Given the description of an element on the screen output the (x, y) to click on. 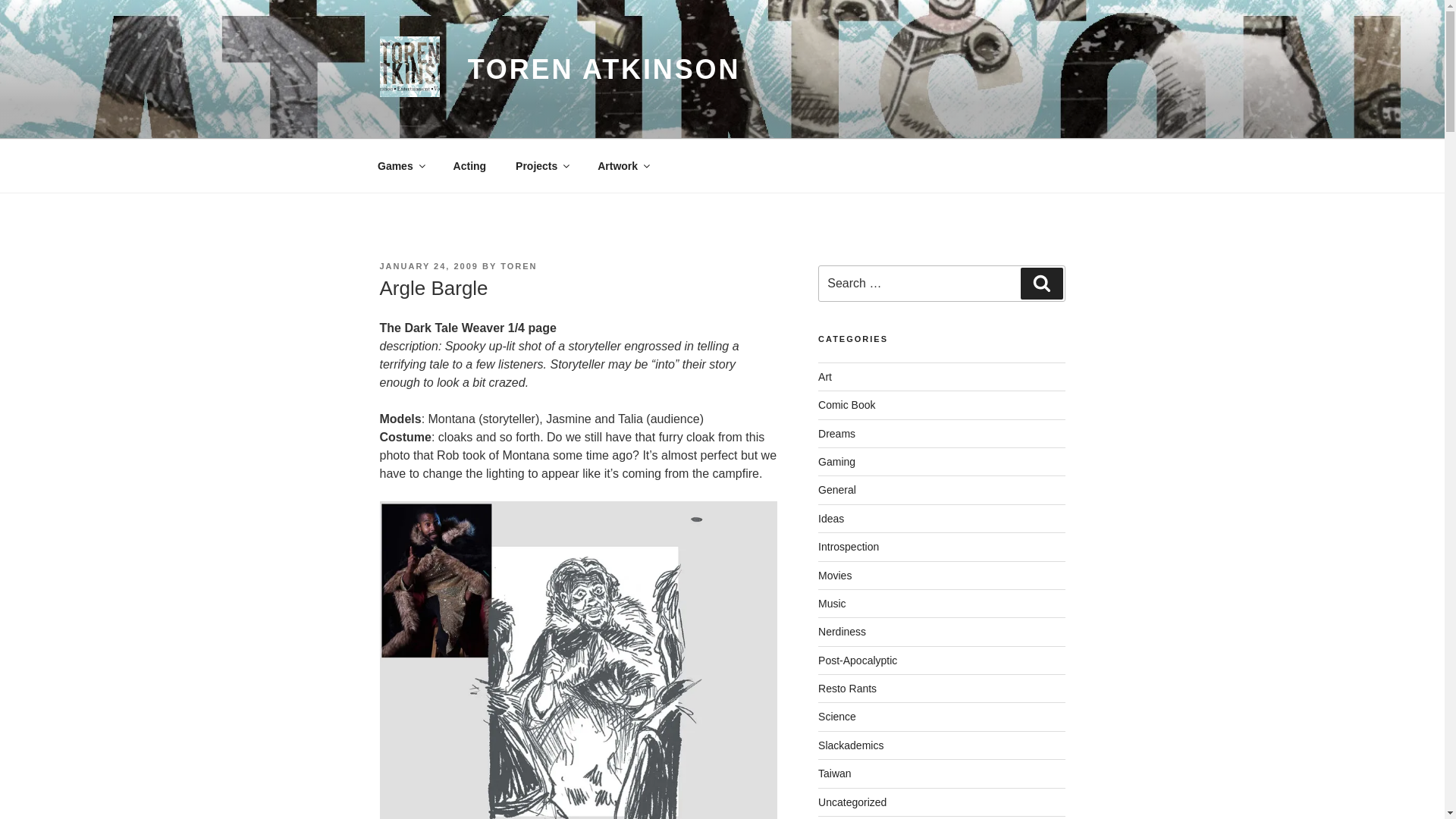
Dreams (837, 433)
JANUARY 24, 2009 (427, 266)
Projects (541, 165)
Artwork (623, 165)
Gaming (837, 461)
Art (824, 377)
TOREN (518, 266)
General (837, 490)
Search (1041, 283)
Games (400, 165)
TOREN ATKINSON (604, 69)
Comic Book (846, 404)
Ideas (831, 518)
Acting (469, 165)
